Given the description of an element on the screen output the (x, y) to click on. 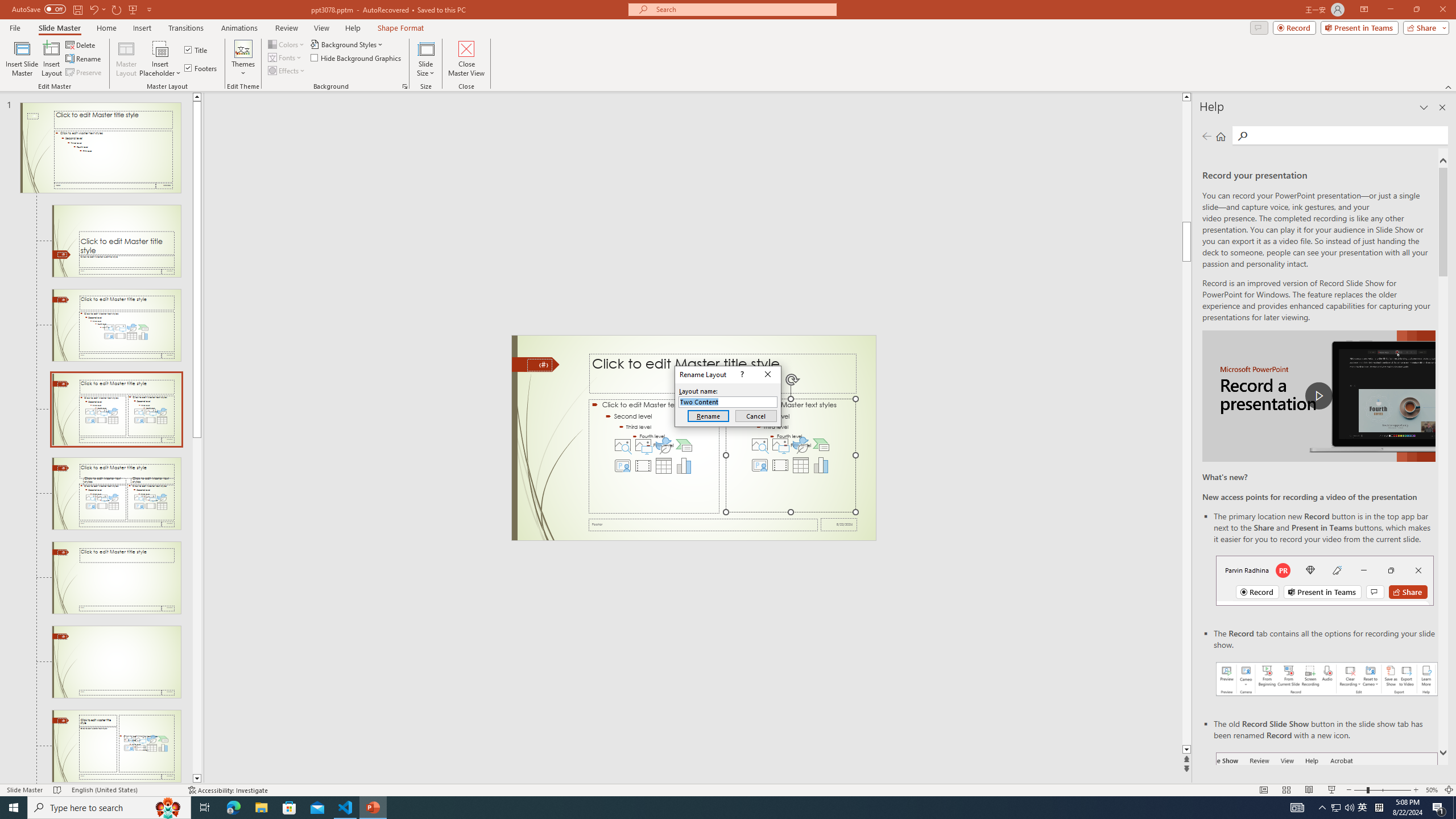
Format Background... (404, 85)
Insert Layout (51, 58)
Context help (741, 374)
Slide Two Content Layout: used by no slides (116, 493)
